Given the description of an element on the screen output the (x, y) to click on. 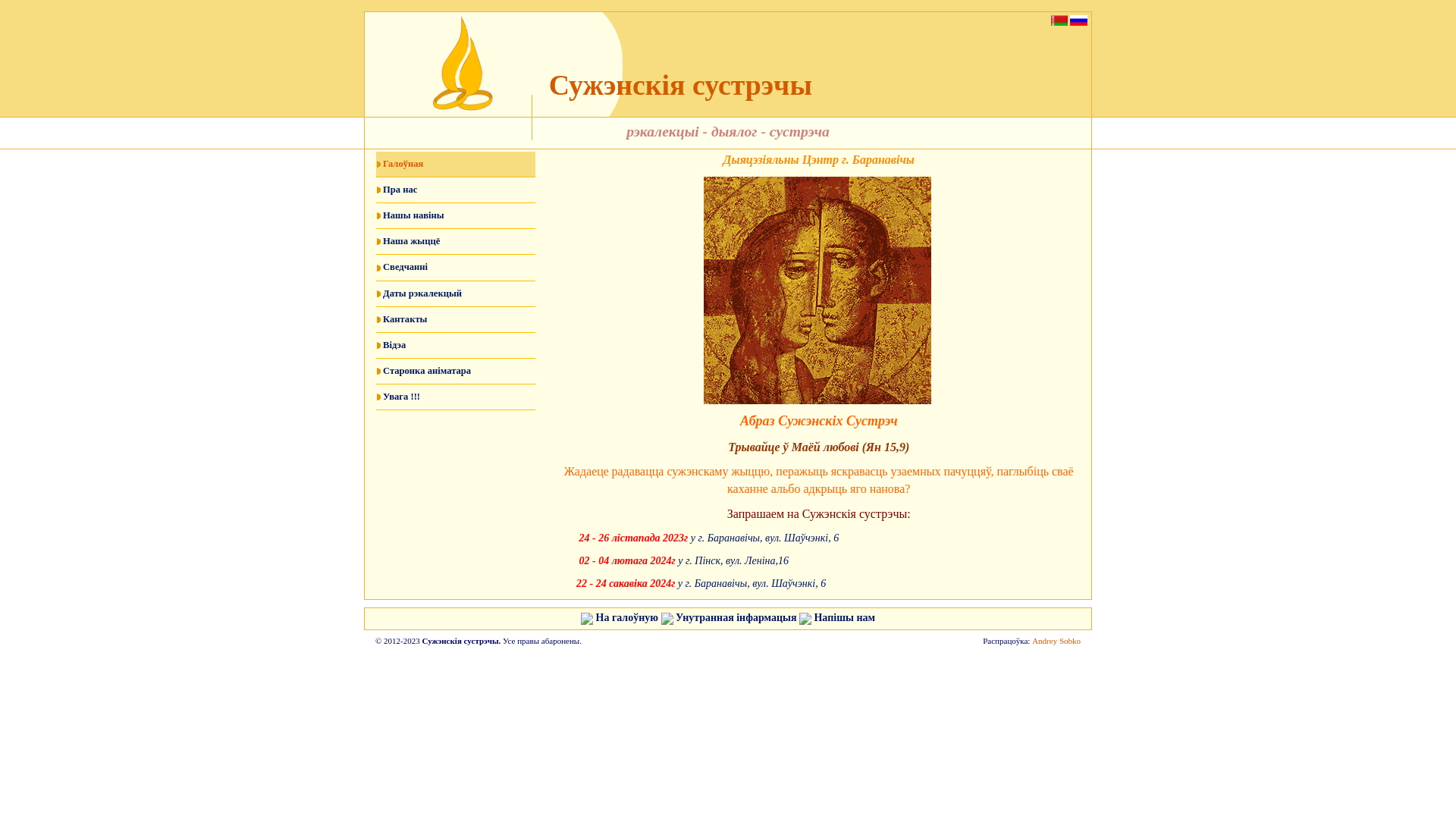
Andrey Sobko Element type: text (1056, 640)
